Given the description of an element on the screen output the (x, y) to click on. 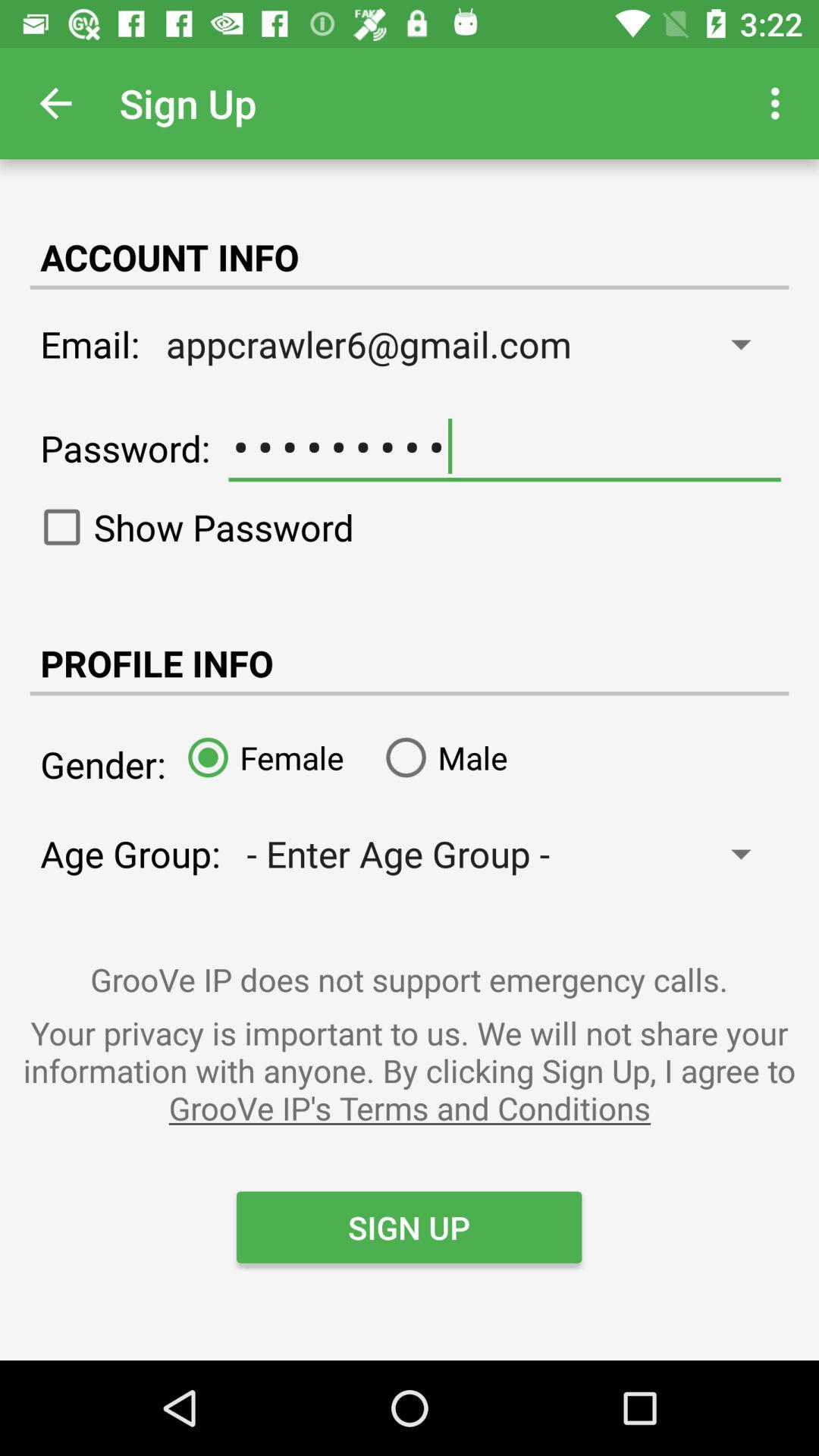
launch item below groove ip does item (409, 1070)
